Given the description of an element on the screen output the (x, y) to click on. 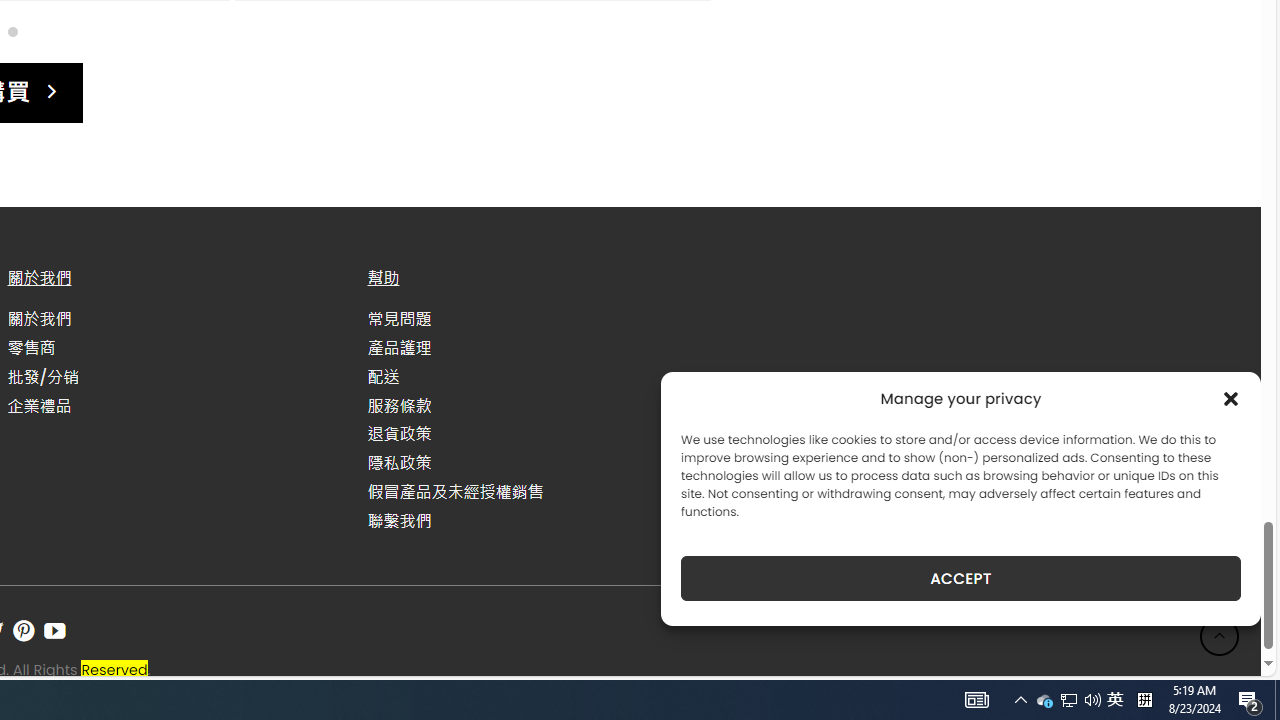
Page dot 3 (11, 30)
Class: cmplz-close (1231, 398)
ACCEPT (960, 578)
Follow on Pinterest (23, 631)
Go to top (1220, 636)
Follow on YouTube (54, 631)
